Given the description of an element on the screen output the (x, y) to click on. 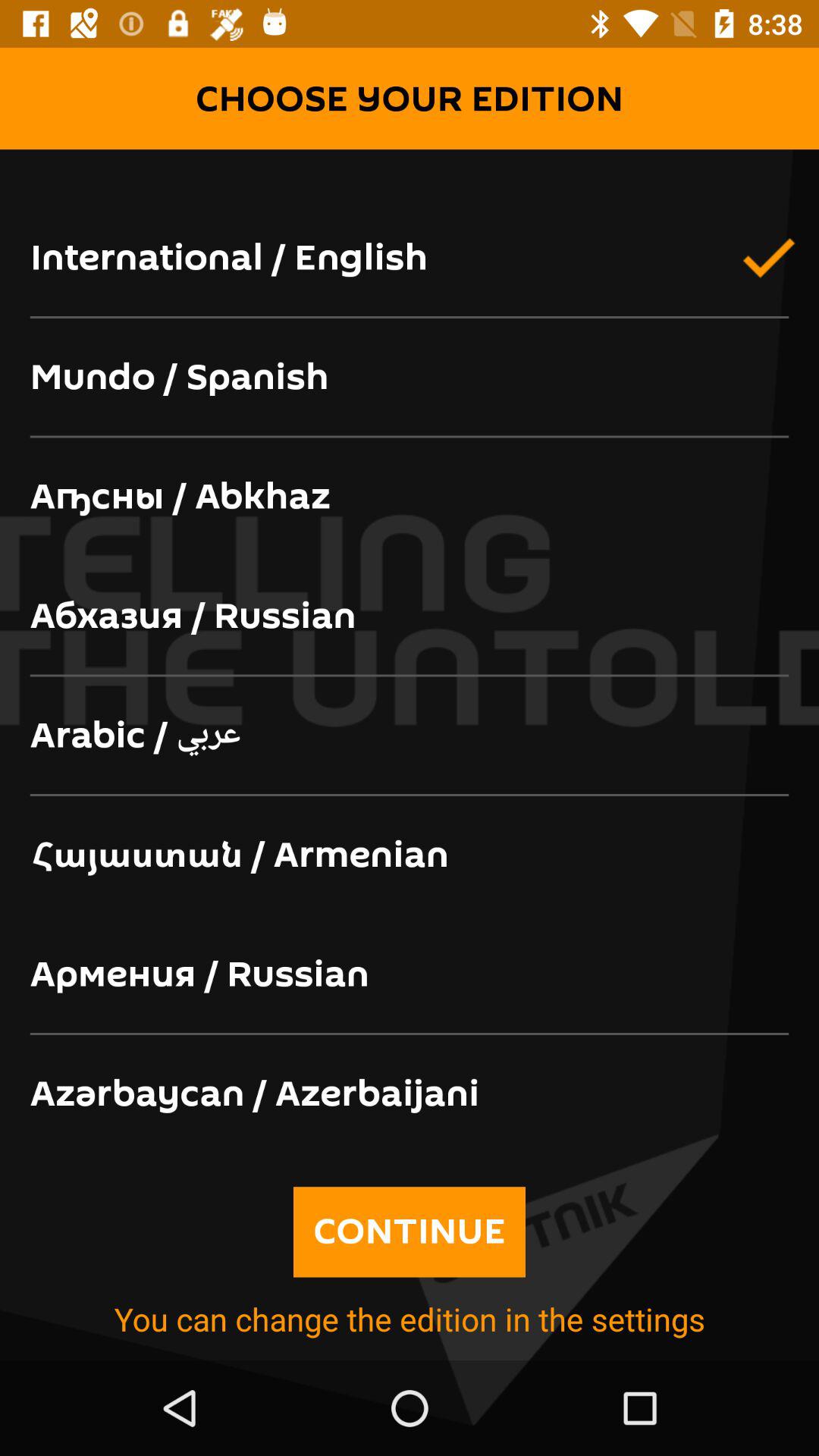
flip until the mundo / spanish (409, 377)
